Given the description of an element on the screen output the (x, y) to click on. 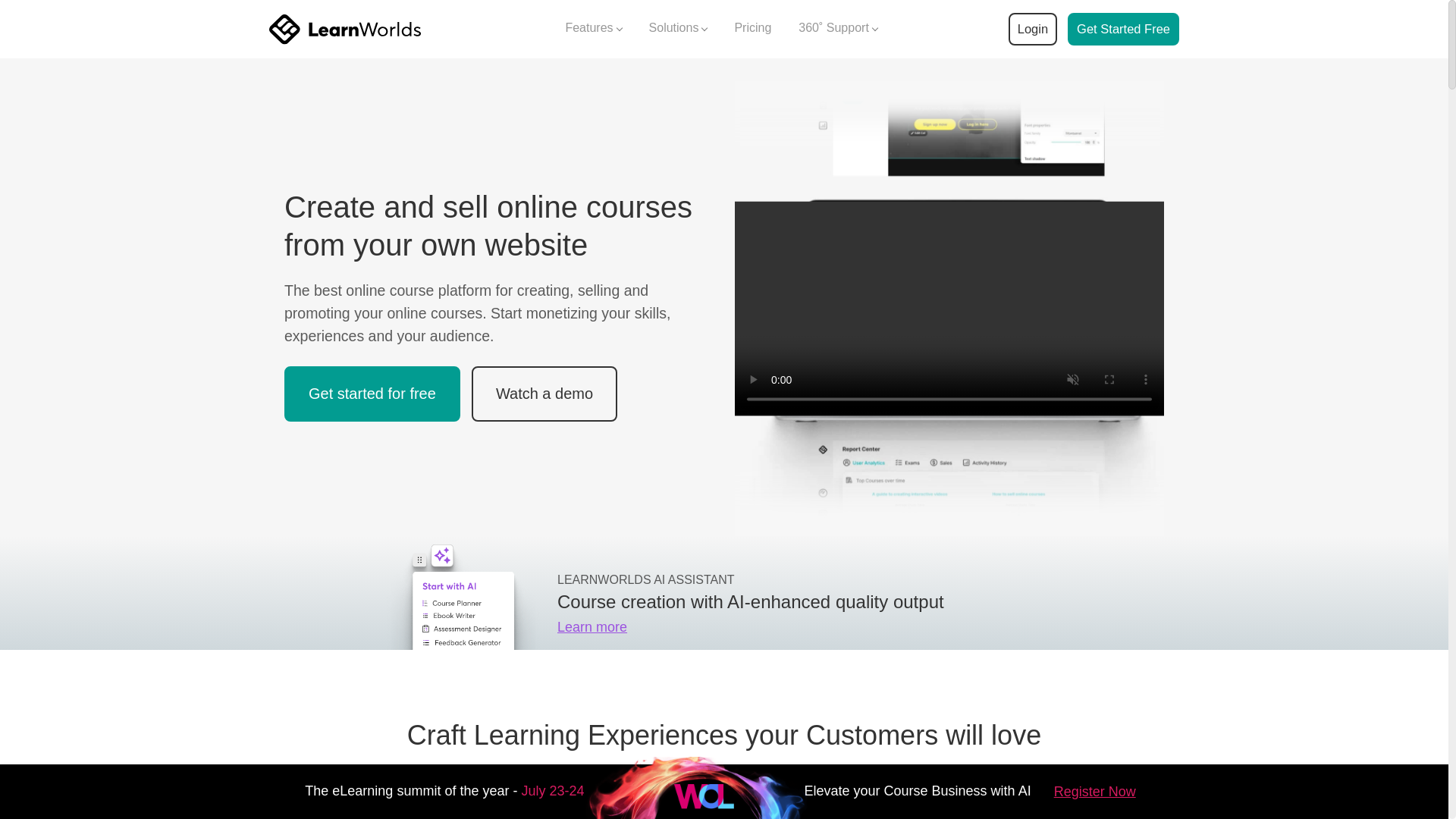
Start your demo with LearnWorlds (1123, 29)
LearnWorlds home (344, 28)
Features (592, 29)
Login to your LearnWorlds account (1032, 29)
